Given the description of an element on the screen output the (x, y) to click on. 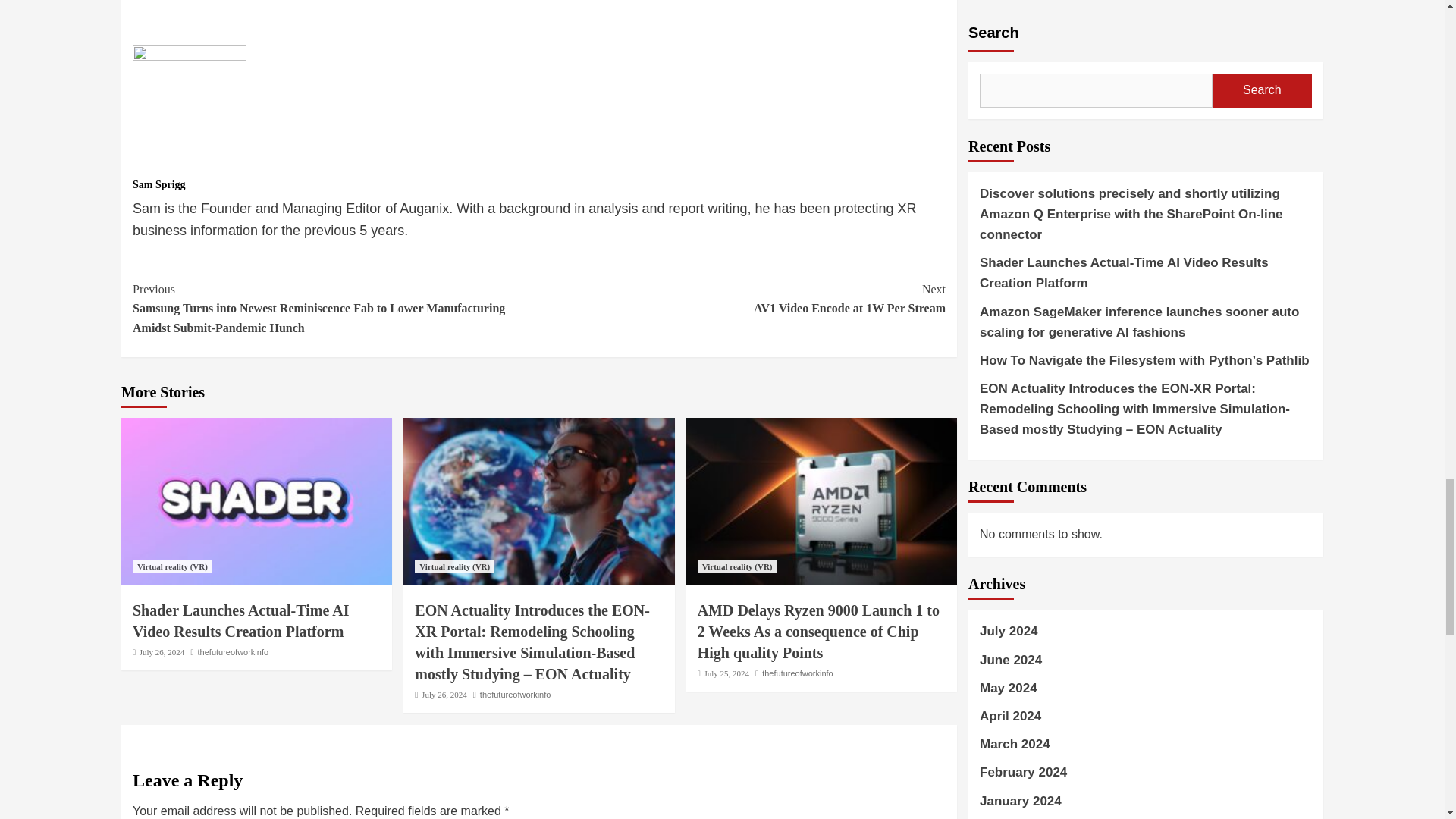
July 26, 2024 (444, 694)
thefutureofworkinfo (233, 651)
July 26, 2024 (161, 651)
thefutureofworkinfo (515, 694)
thefutureofworkinfo (796, 673)
July 25, 2024 (726, 673)
